Given the description of an element on the screen output the (x, y) to click on. 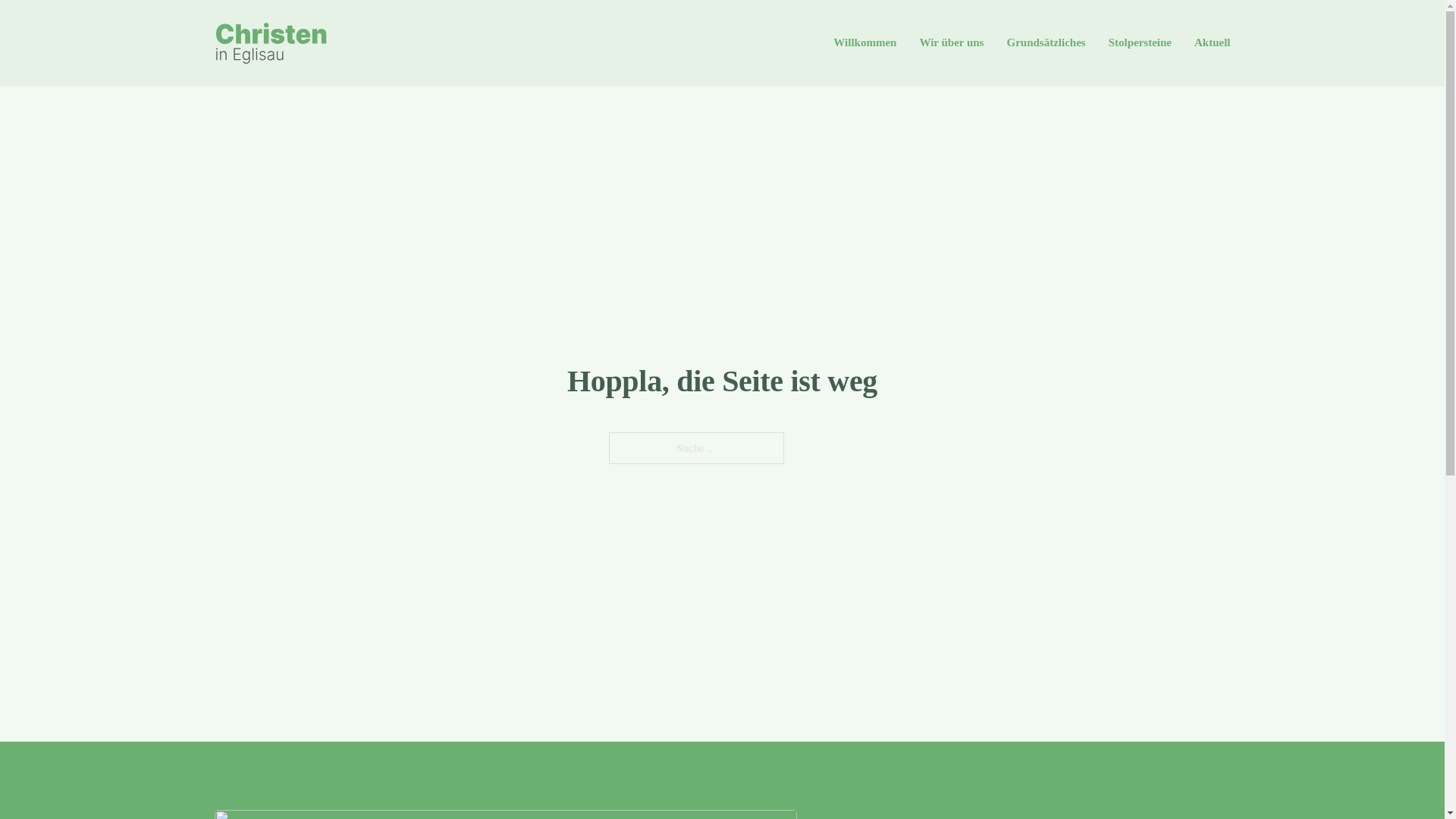
Willkommen Element type: text (864, 42)
Stolpersteine Element type: text (1139, 42)
Aktuell Element type: text (1212, 42)
Zur Startseite Element type: hover (270, 42)
